Given the description of an element on the screen output the (x, y) to click on. 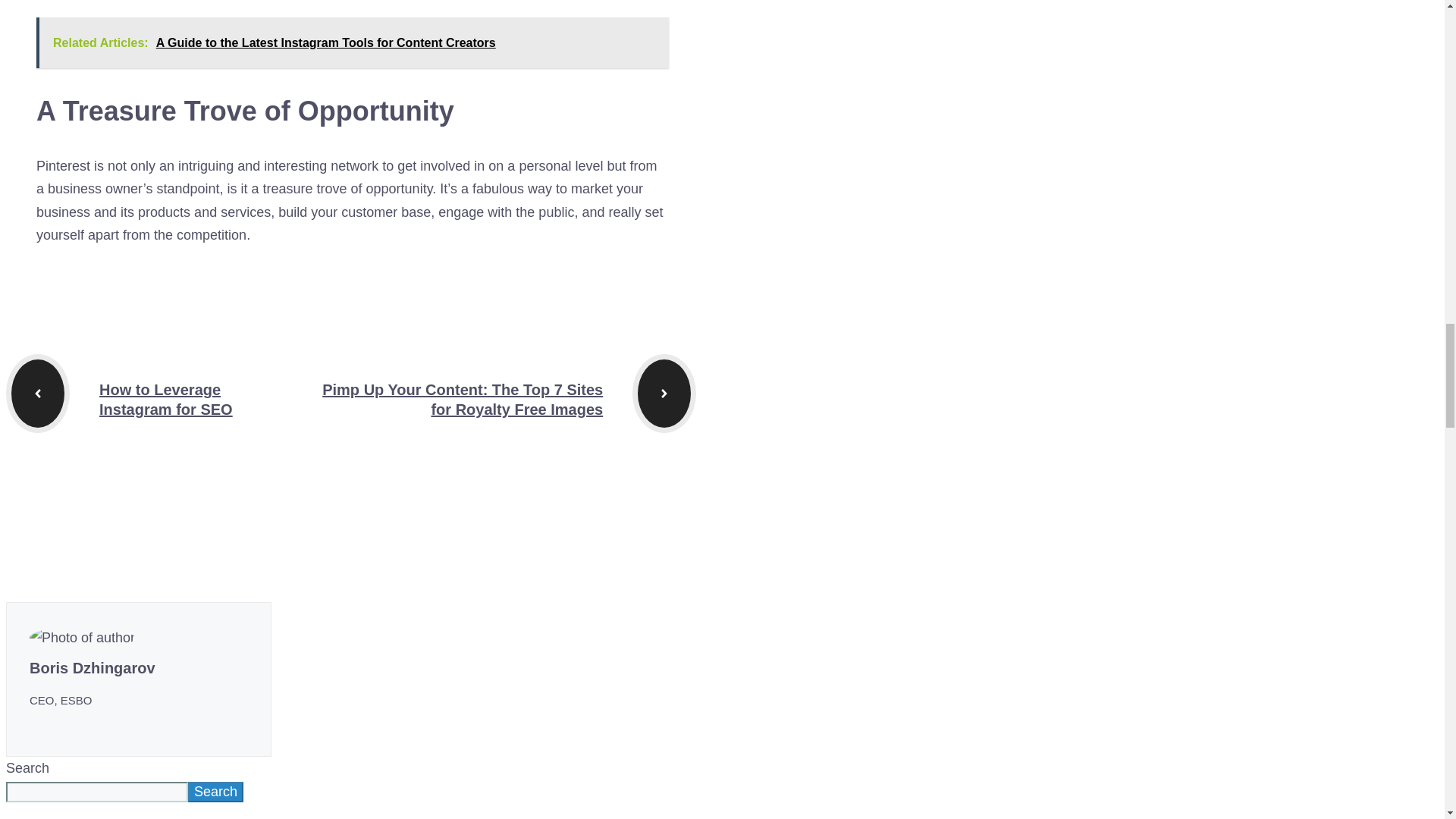
How to Leverage Instagram for SEO (165, 399)
Search (215, 792)
